Given the description of an element on the screen output the (x, y) to click on. 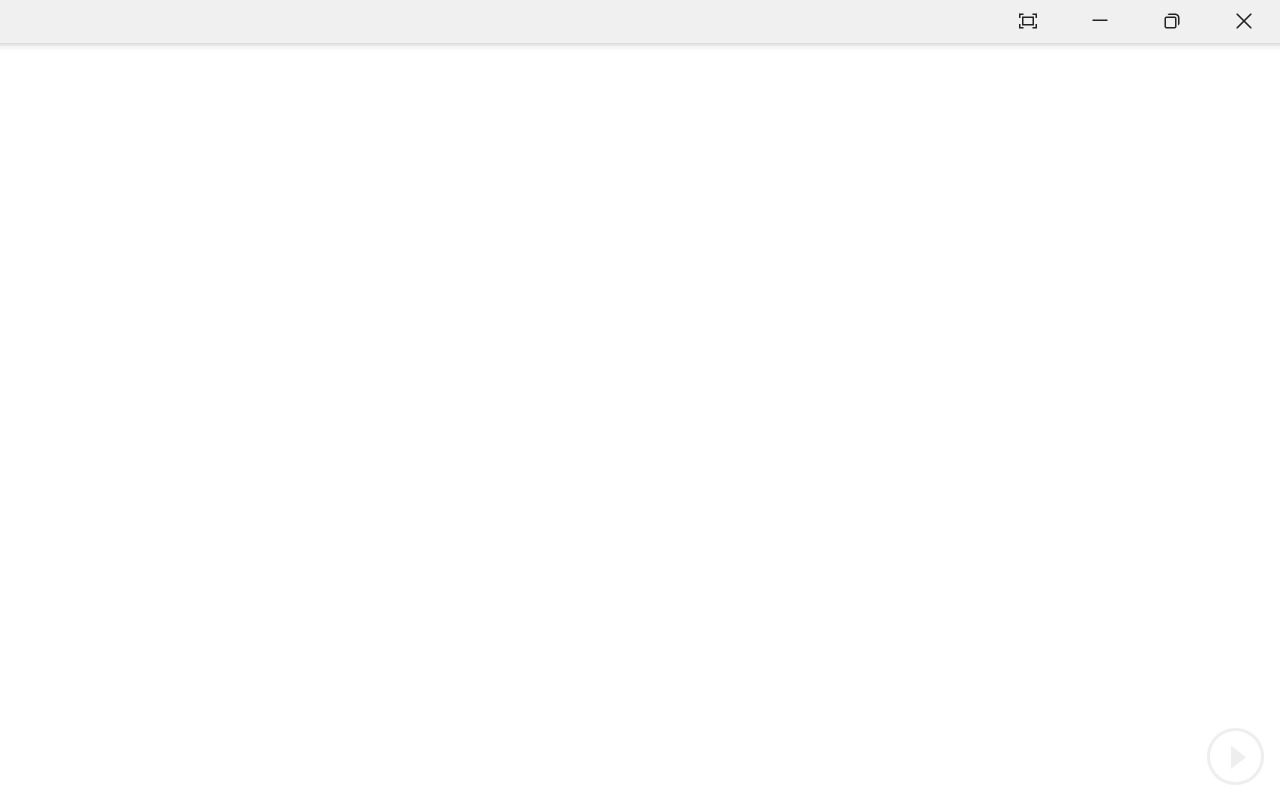
Auto-hide Reading Toolbar (1027, 21)
